Given the description of an element on the screen output the (x, y) to click on. 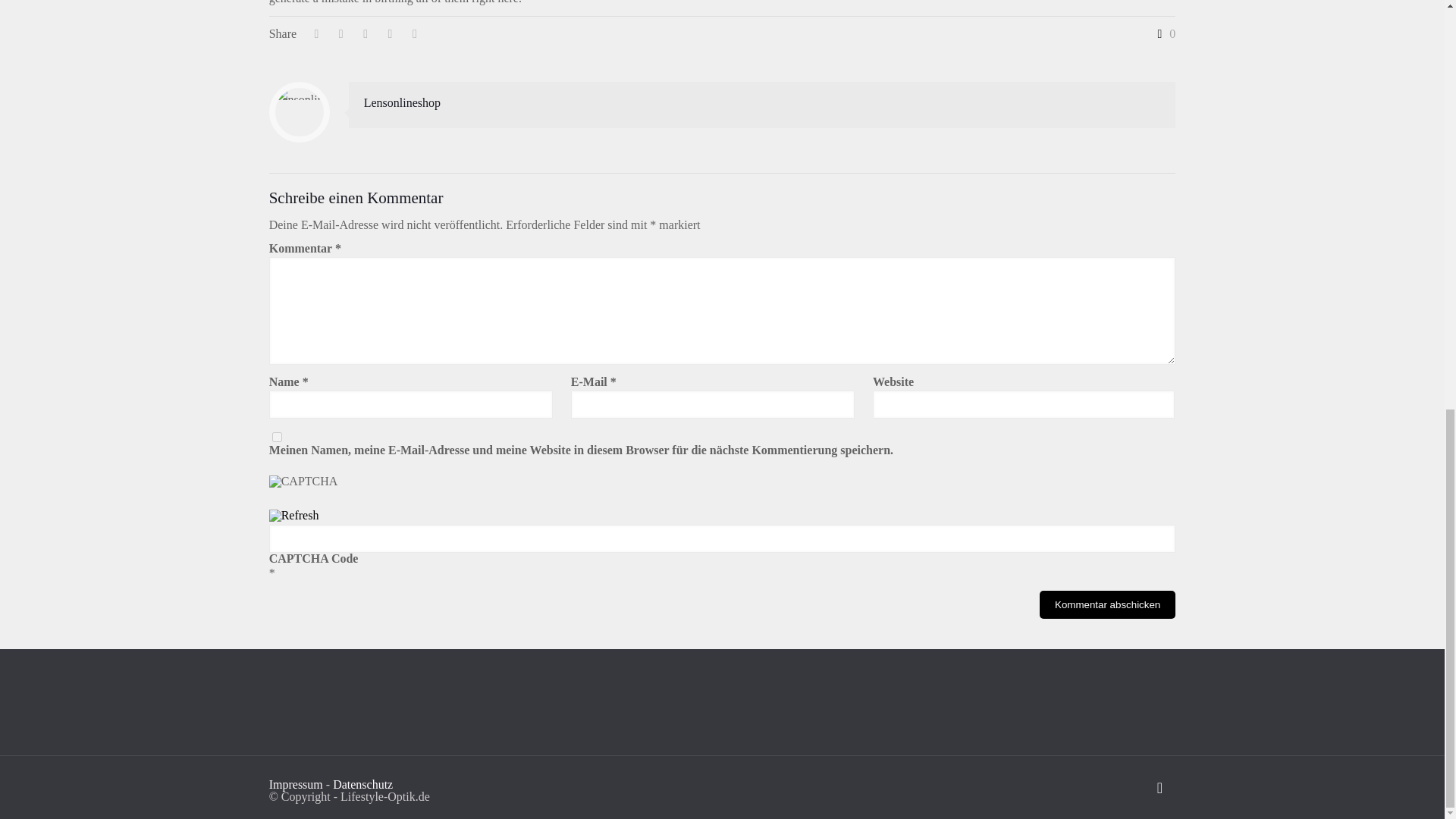
Kommentar abschicken (1106, 604)
0 (1162, 33)
Datenschutz (363, 784)
Kommentar abschicken (1106, 604)
yes (277, 437)
Impressum (296, 784)
Lensonlineshop (402, 102)
Refresh (293, 514)
CAPTCHA (320, 492)
